Given the description of an element on the screen output the (x, y) to click on. 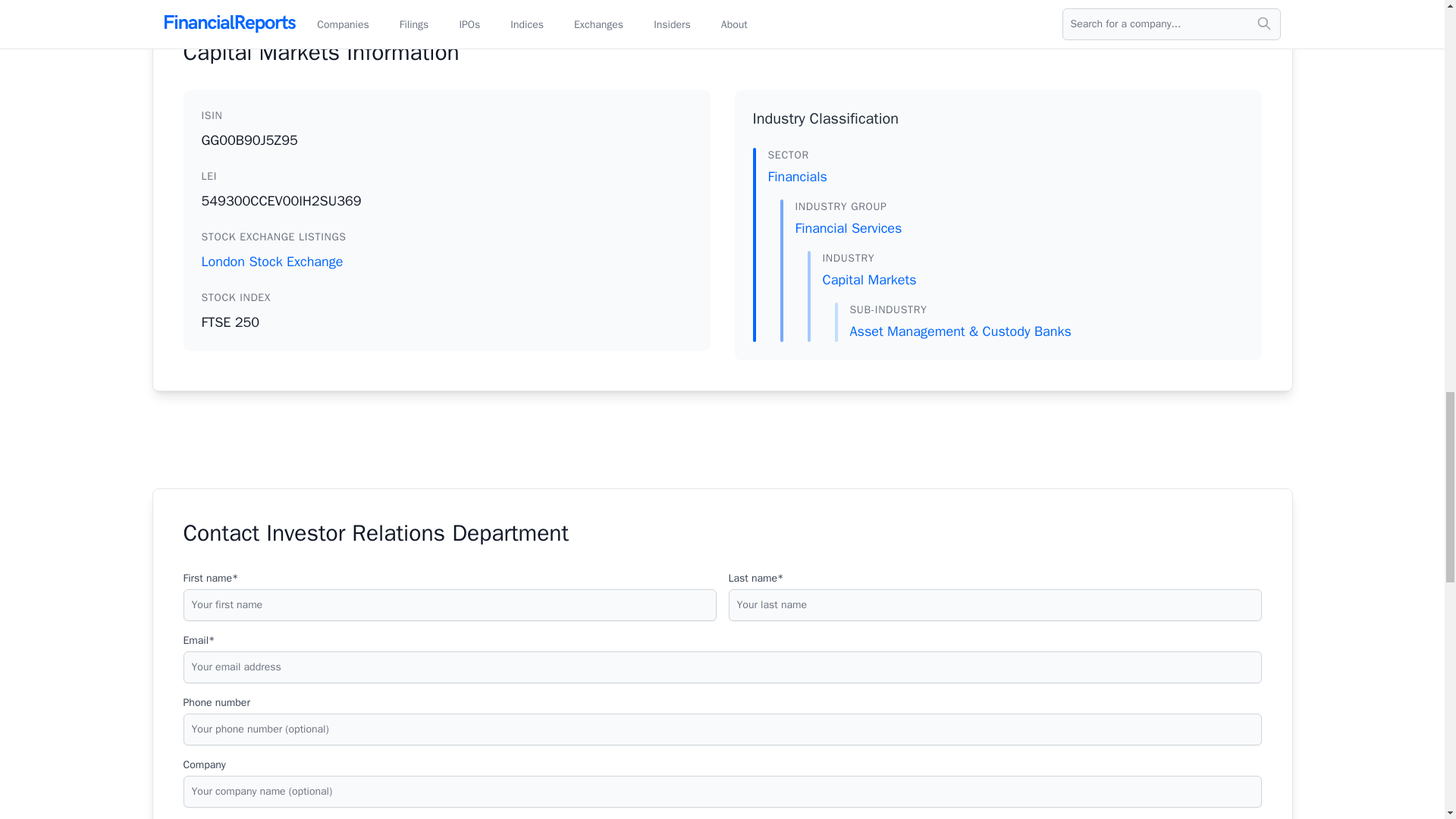
Capital Markets (868, 279)
Financials (797, 176)
London Stock Exchange (447, 260)
Financial Services (847, 228)
